Given the description of an element on the screen output the (x, y) to click on. 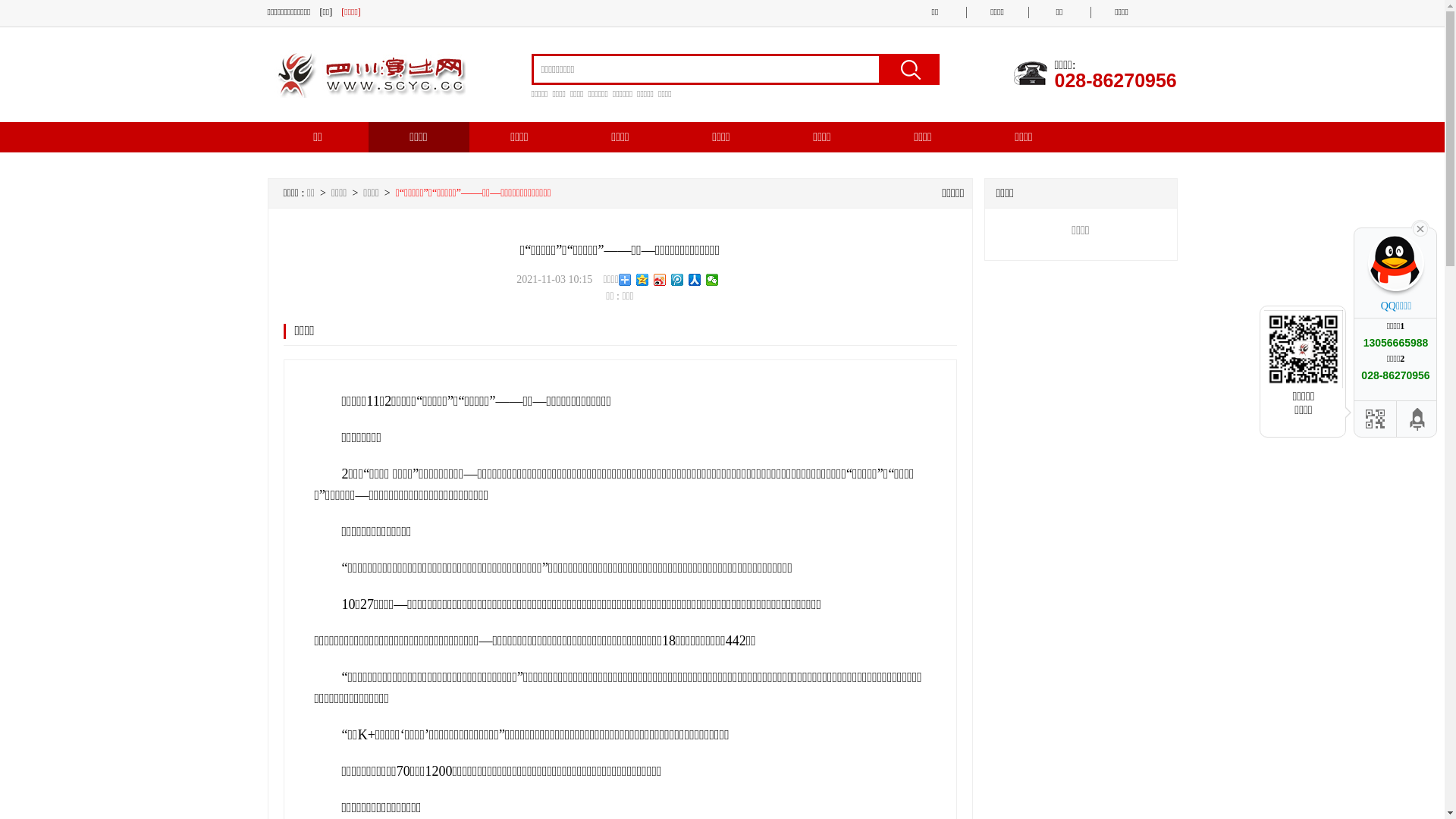
  Element type: text (1420, 227)
  Element type: text (908, 68)
